Given the description of an element on the screen output the (x, y) to click on. 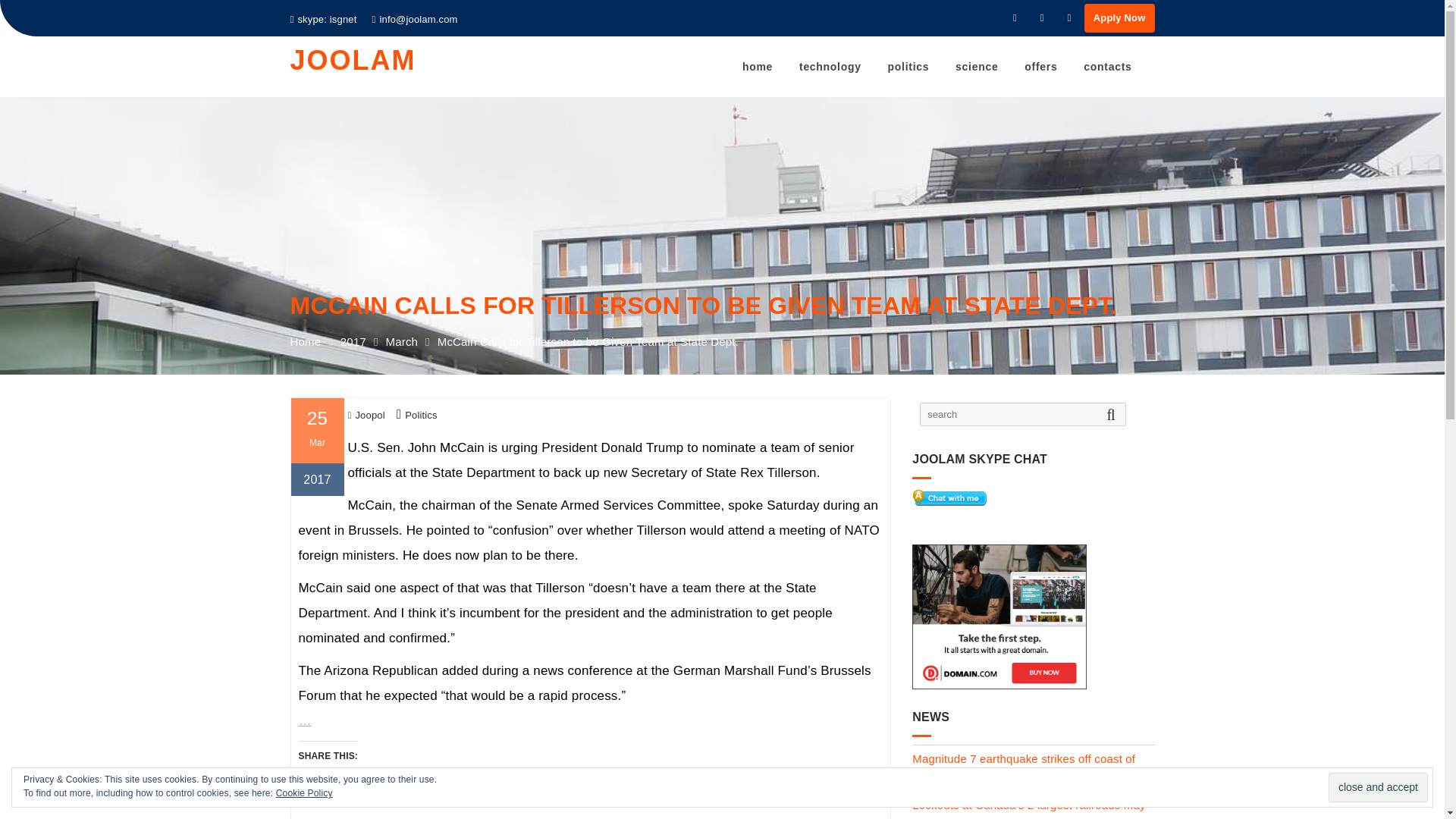
Apply Now (1119, 18)
Click to share on Facebook (341, 784)
science (976, 66)
Home (304, 370)
Click to share on Nextdoor (432, 784)
close and accept (1377, 787)
Facebook (1014, 17)
Youtube (1069, 17)
politics (908, 66)
Joopol (365, 419)
